Given the description of an element on the screen output the (x, y) to click on. 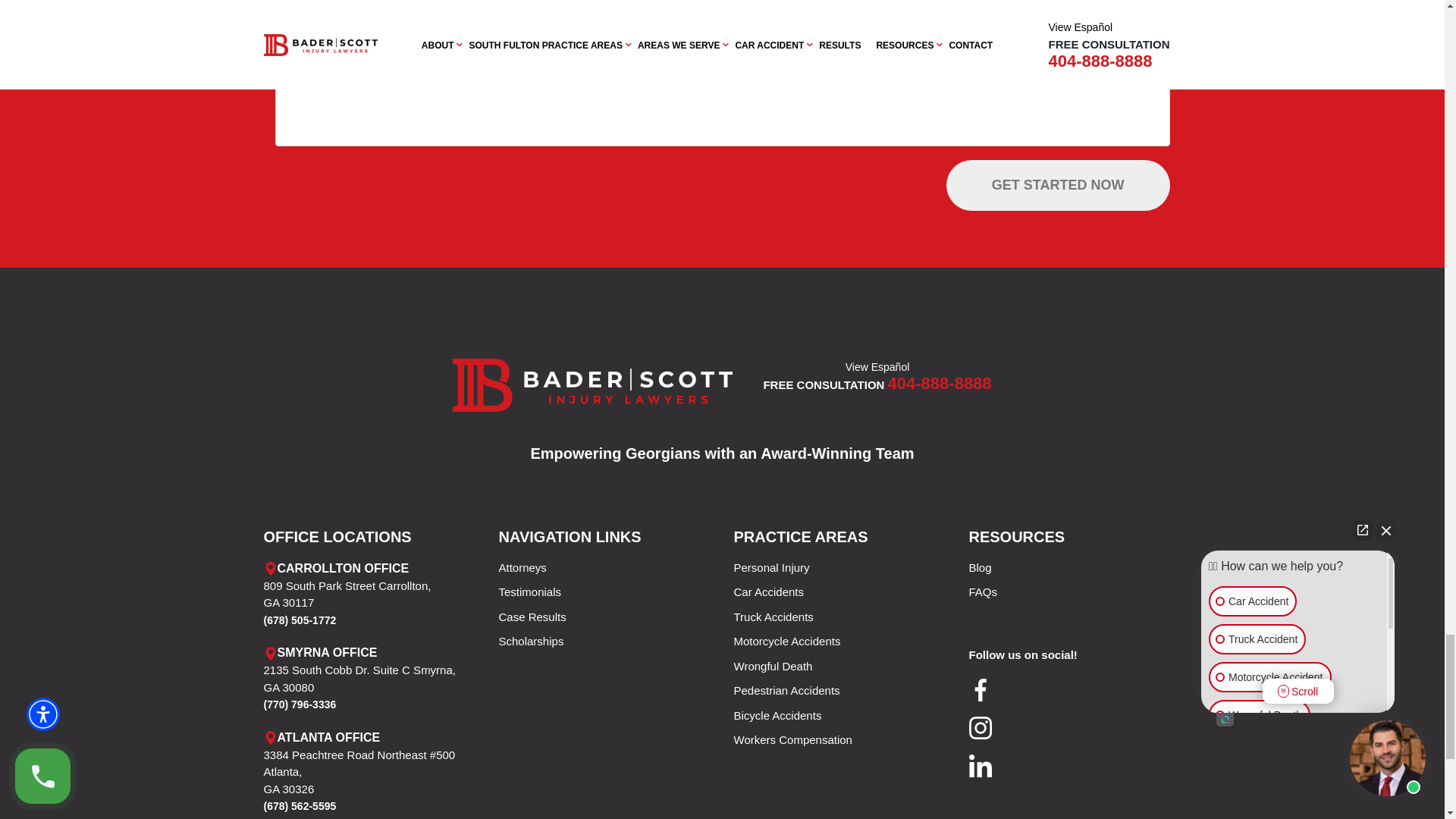
Get Started Now (1058, 184)
